Given the description of an element on the screen output the (x, y) to click on. 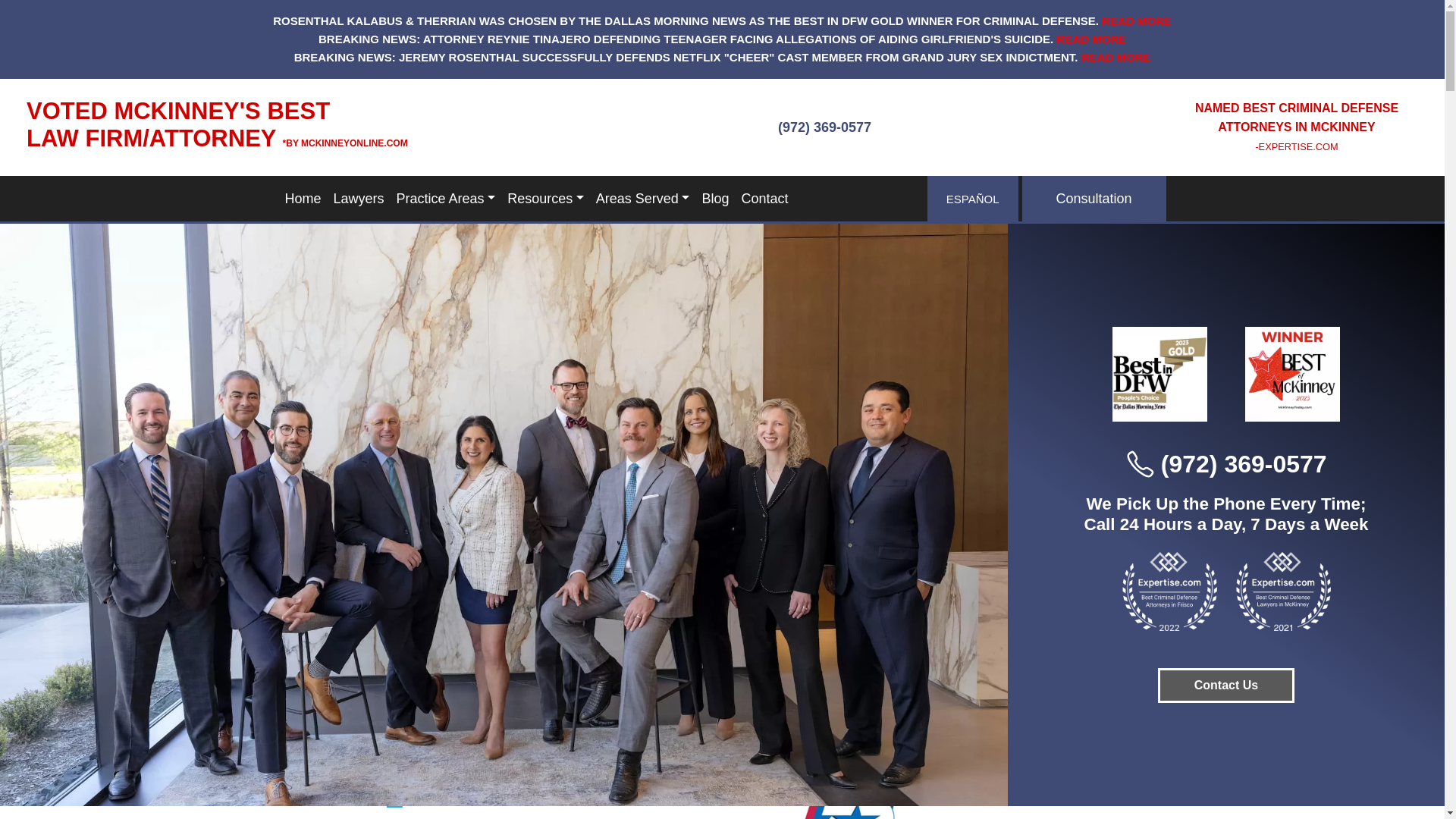
READ MORE (1091, 39)
READ MORE (1137, 21)
Home (303, 197)
Resources (544, 197)
Areas Served (642, 197)
Practice Areas (446, 197)
READ MORE (1116, 57)
Lawyers (358, 197)
